Given the description of an element on the screen output the (x, y) to click on. 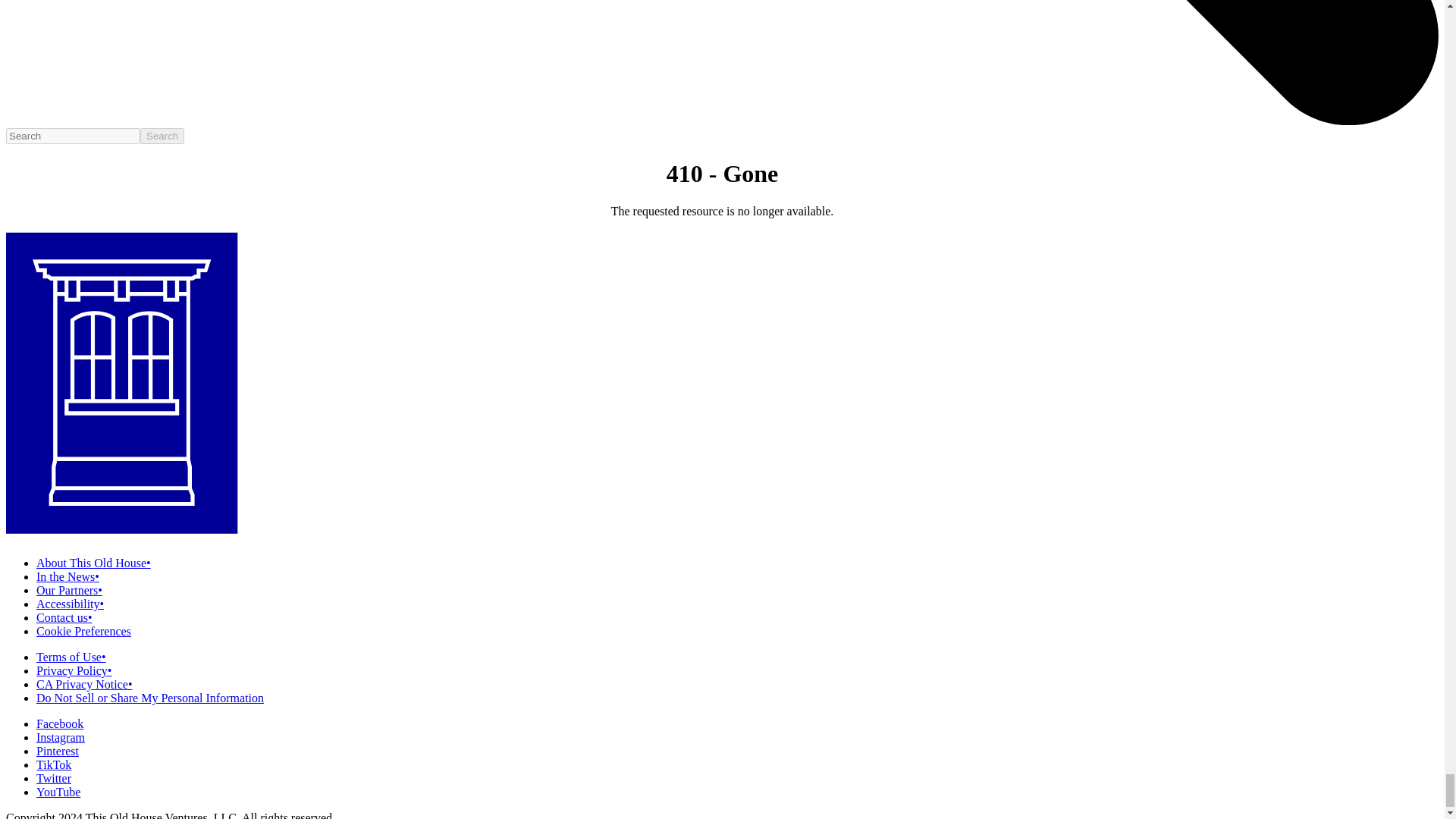
Search (161, 135)
